Given the description of an element on the screen output the (x, y) to click on. 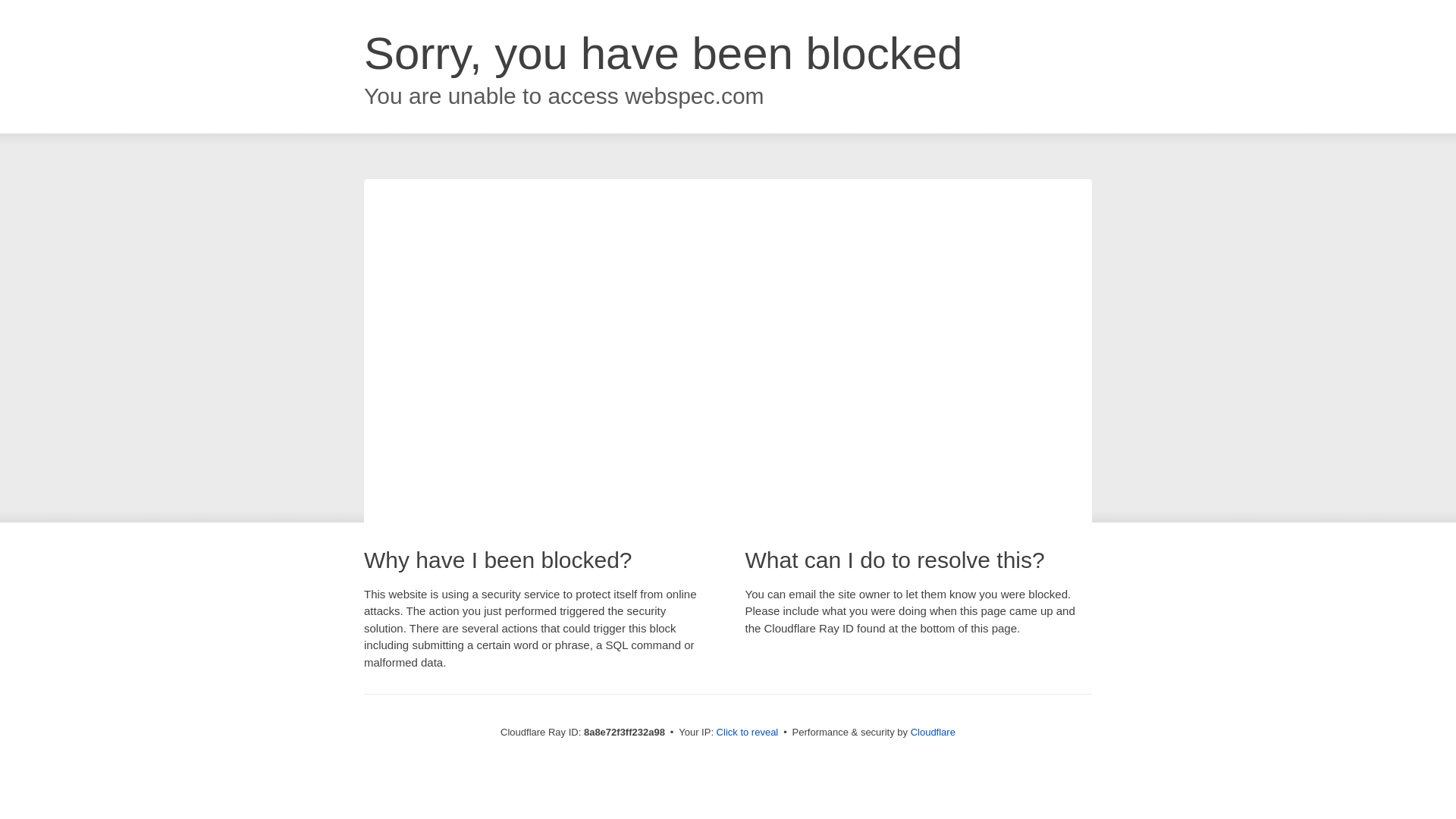
Cloudflare (933, 731)
Click to reveal (747, 732)
